Given the description of an element on the screen output the (x, y) to click on. 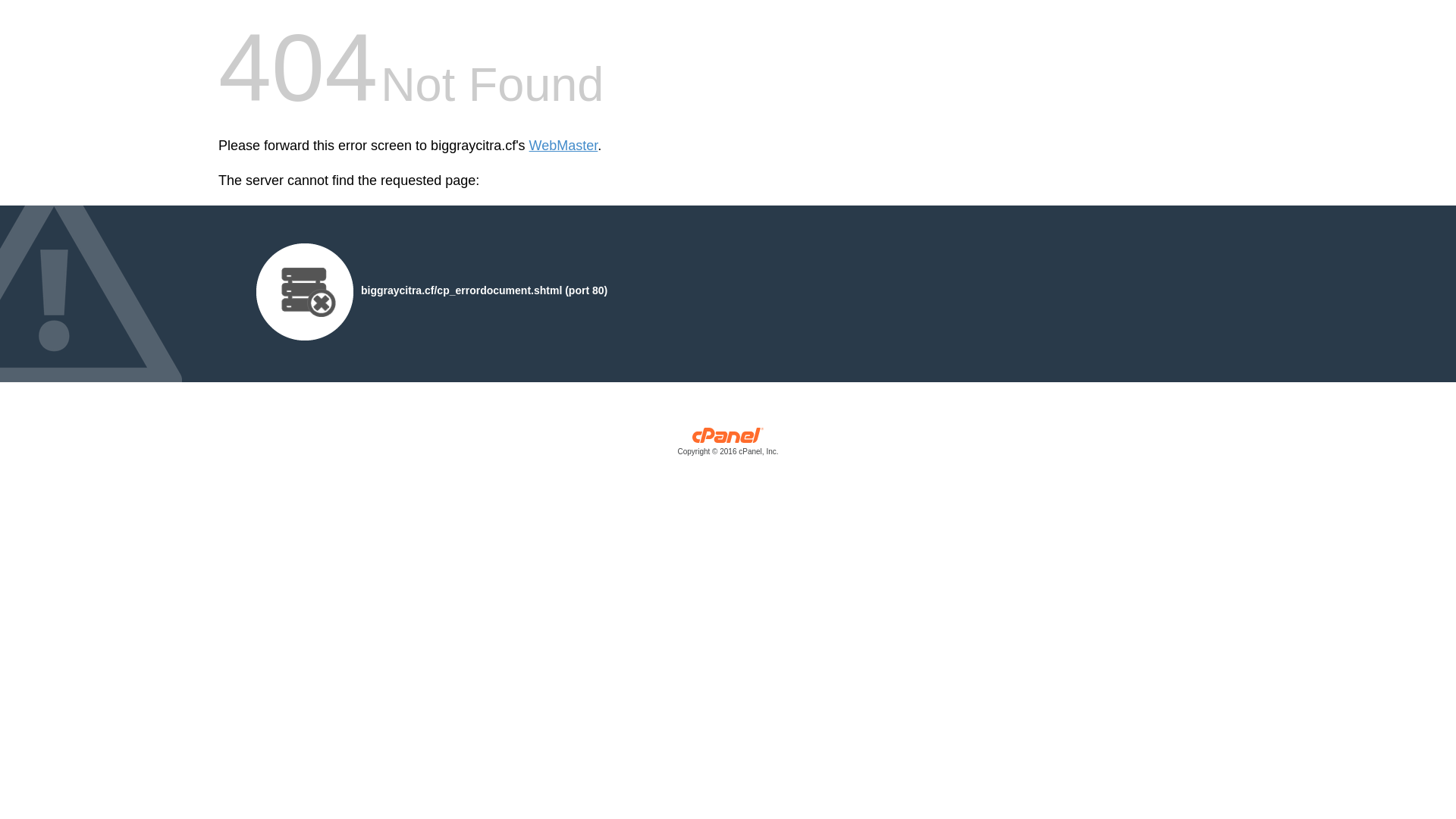
WebMaster Element type: text (563, 145)
